Given the description of an element on the screen output the (x, y) to click on. 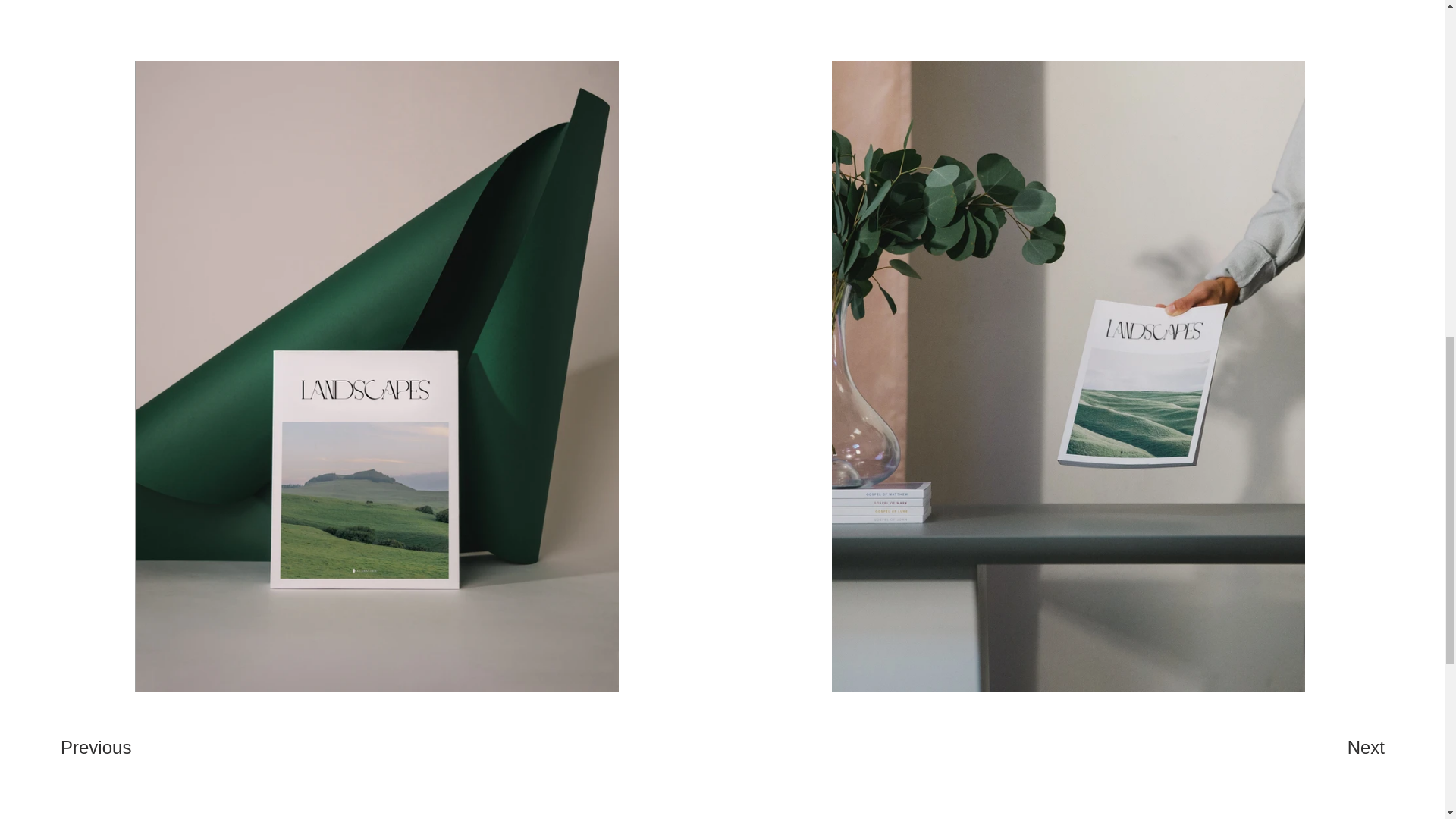
Previous (114, 747)
Next (1334, 747)
